Given the description of an element on the screen output the (x, y) to click on. 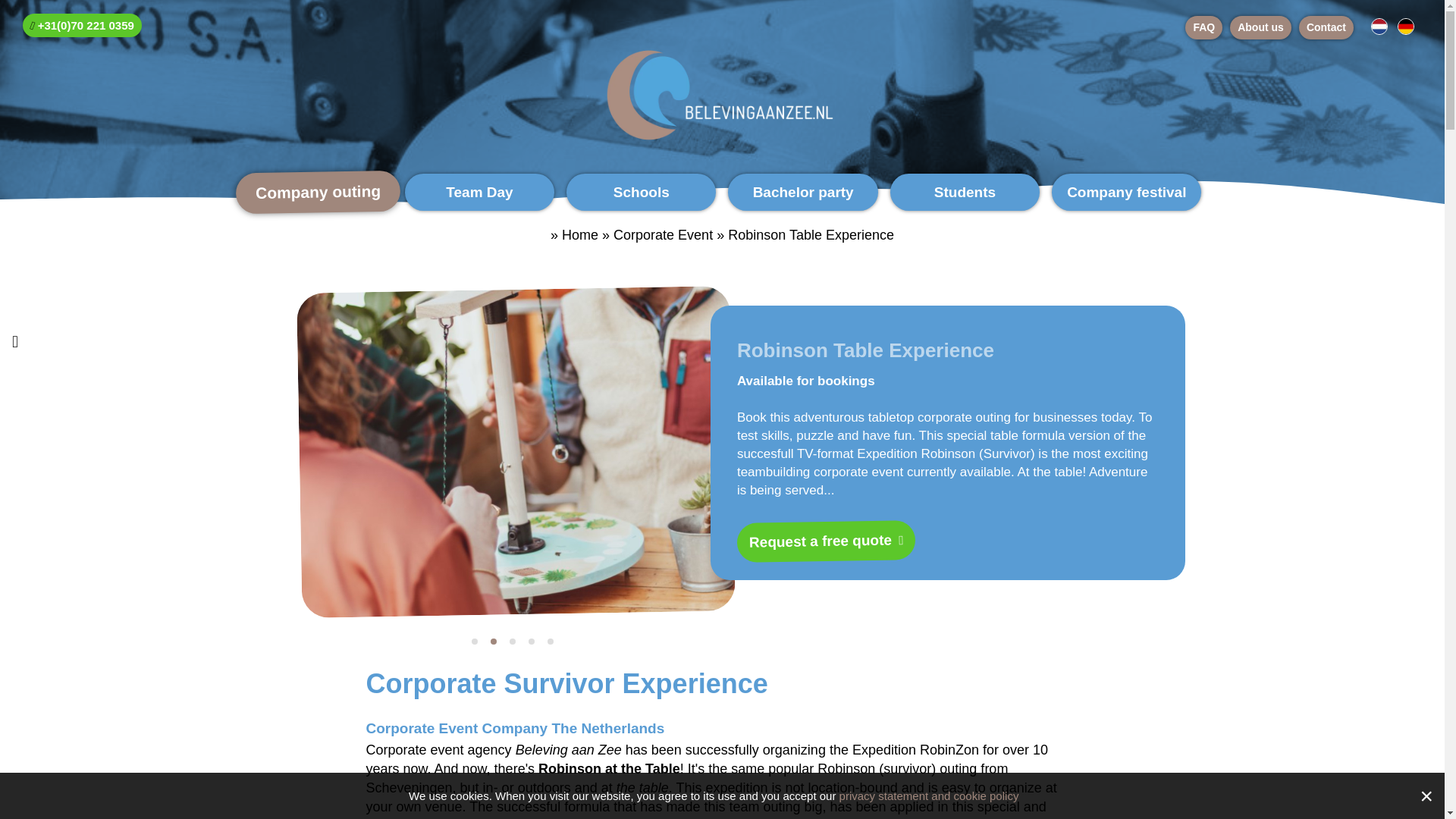
Corporate Event (662, 234)
3 (519, 641)
FAQ (1204, 27)
Company festival (1126, 191)
About us (1260, 27)
Team Day (479, 191)
4 (538, 641)
2 (500, 641)
Home (580, 234)
Request a free quote (825, 539)
